Given the description of an element on the screen output the (x, y) to click on. 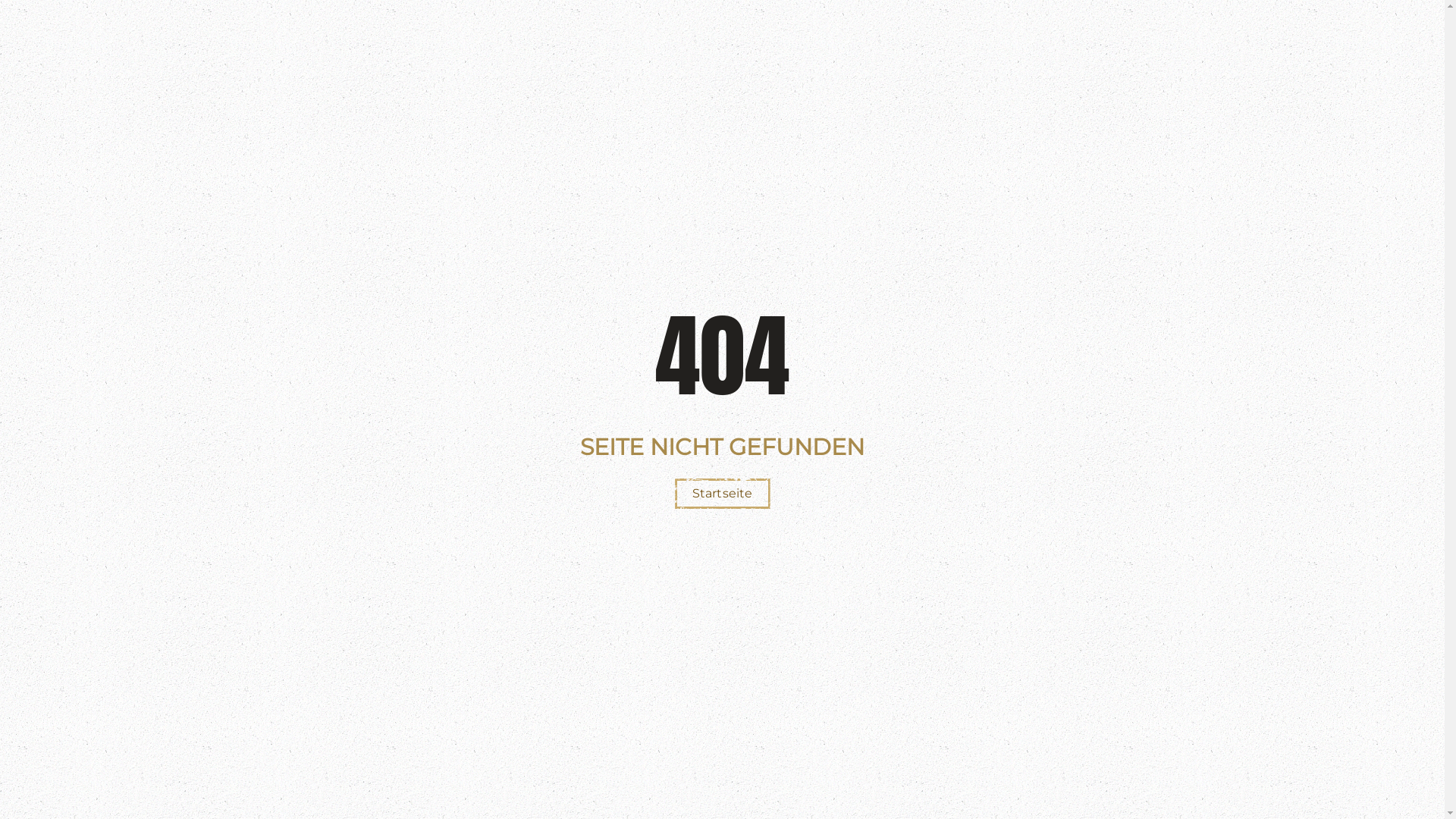
Startseite Element type: text (722, 493)
